Given the description of an element on the screen output the (x, y) to click on. 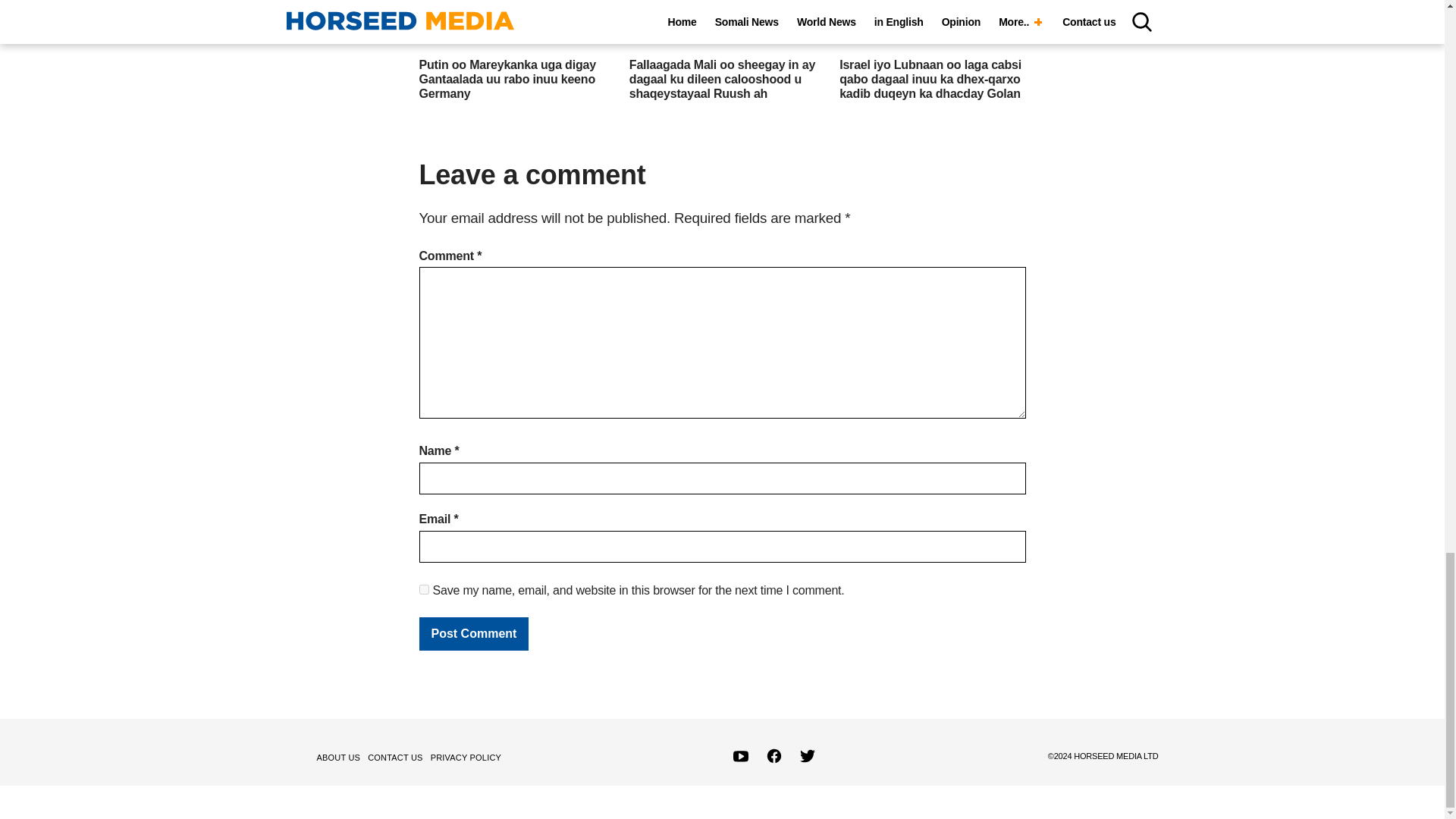
Post Comment (473, 633)
yes (423, 589)
